Given the description of an element on the screen output the (x, y) to click on. 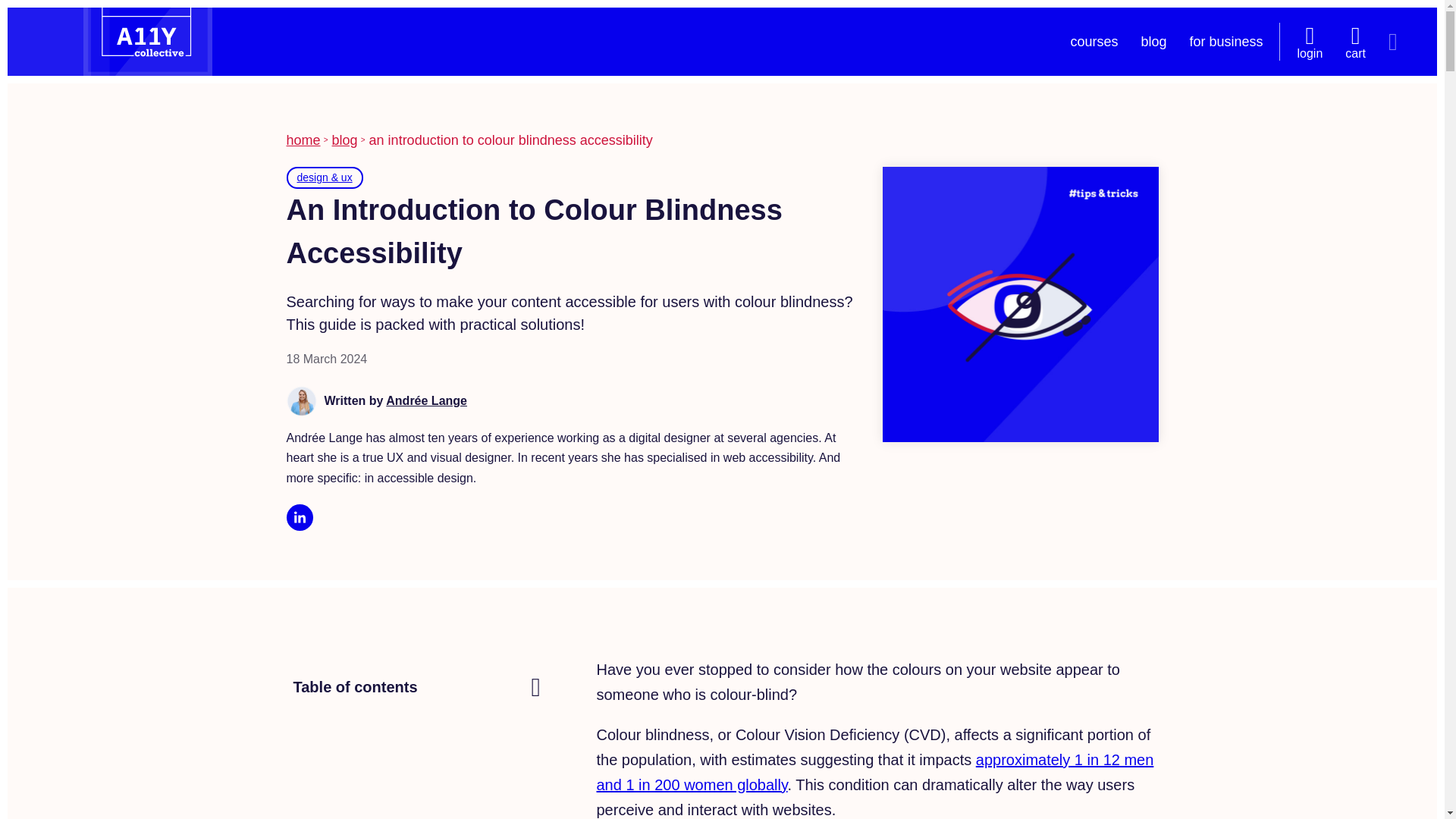
blog (344, 139)
approximately 1 in 12 men and 1 in 200 women globally (874, 772)
courses (1093, 41)
for business (1225, 41)
home (303, 139)
